Given the description of an element on the screen output the (x, y) to click on. 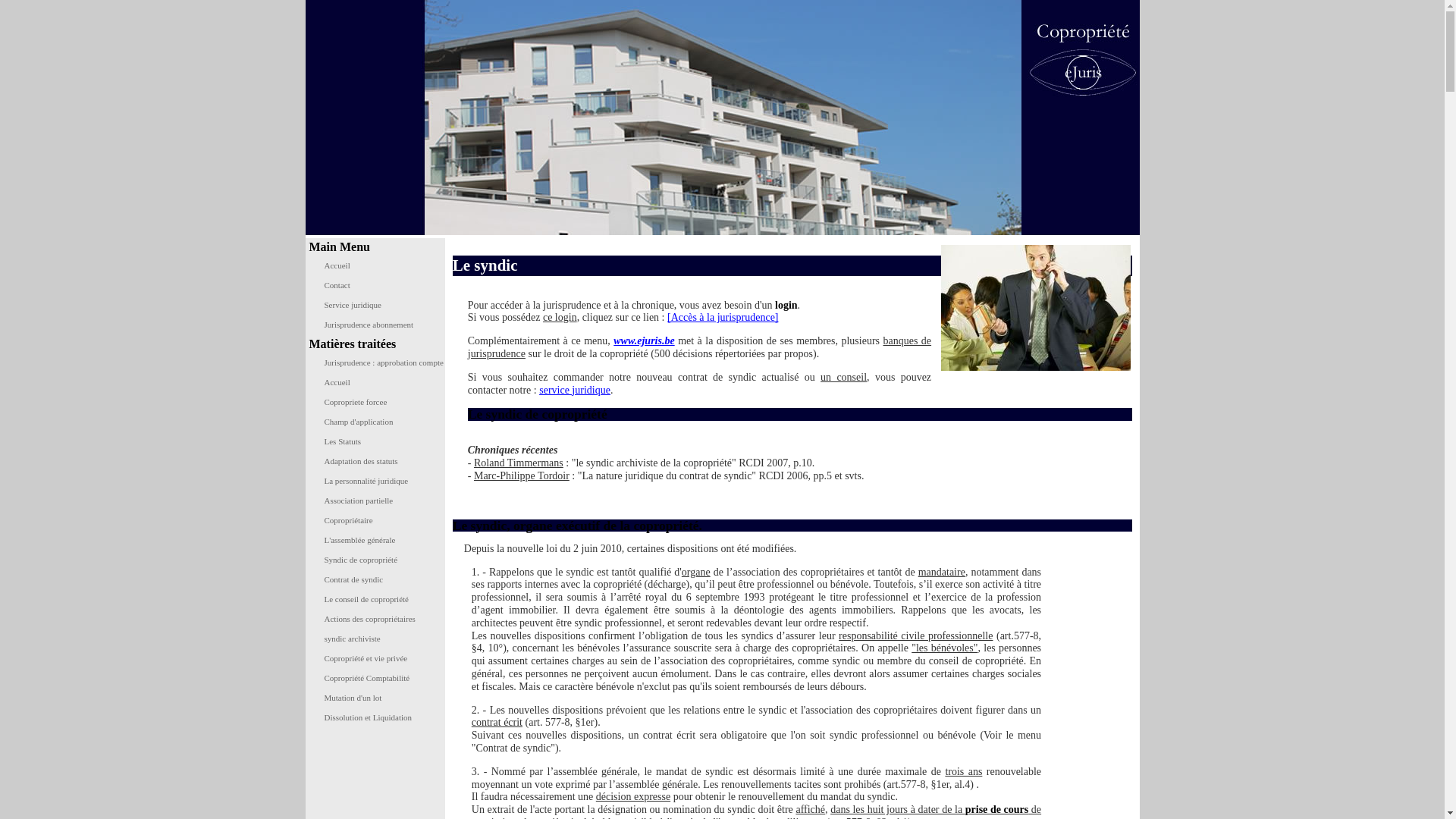
Contact Element type: text (377, 285)
Accueil Element type: text (377, 382)
www.ejuris.be Element type: text (643, 340)
Adaptation des statuts Element type: text (377, 461)
Champ d'application Element type: text (377, 422)
Accueil Element type: text (377, 266)
Les Statuts Element type: text (377, 441)
Contrat de syndic Element type: text (377, 579)
Jurisprudence : approbation compte Element type: text (377, 363)
syndic archiviste Element type: text (377, 639)
Jurisprudence abonnement Element type: text (377, 325)
service juridique Element type: text (574, 389)
Service juridique Element type: text (377, 305)
Dissolution et Liquidation Element type: text (377, 718)
Association partielle Element type: text (377, 501)
Copropriete forcee Element type: text (377, 402)
Mutation d'un lot Element type: text (377, 698)
